Given the description of an element on the screen output the (x, y) to click on. 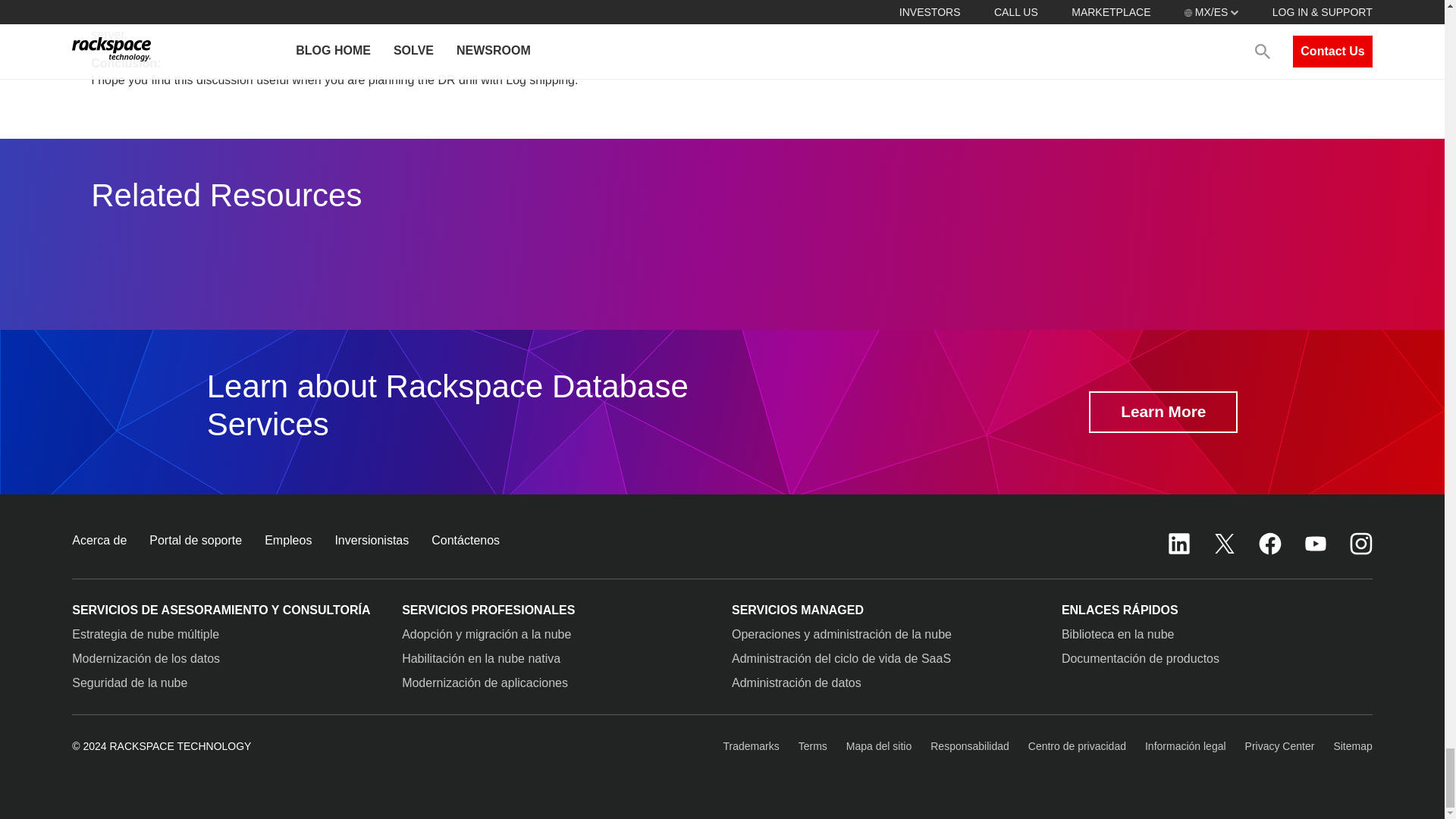
Empleos (287, 540)
Portal de soporte (195, 540)
Learn More (1163, 412)
Acerca de (98, 540)
